Given the description of an element on the screen output the (x, y) to click on. 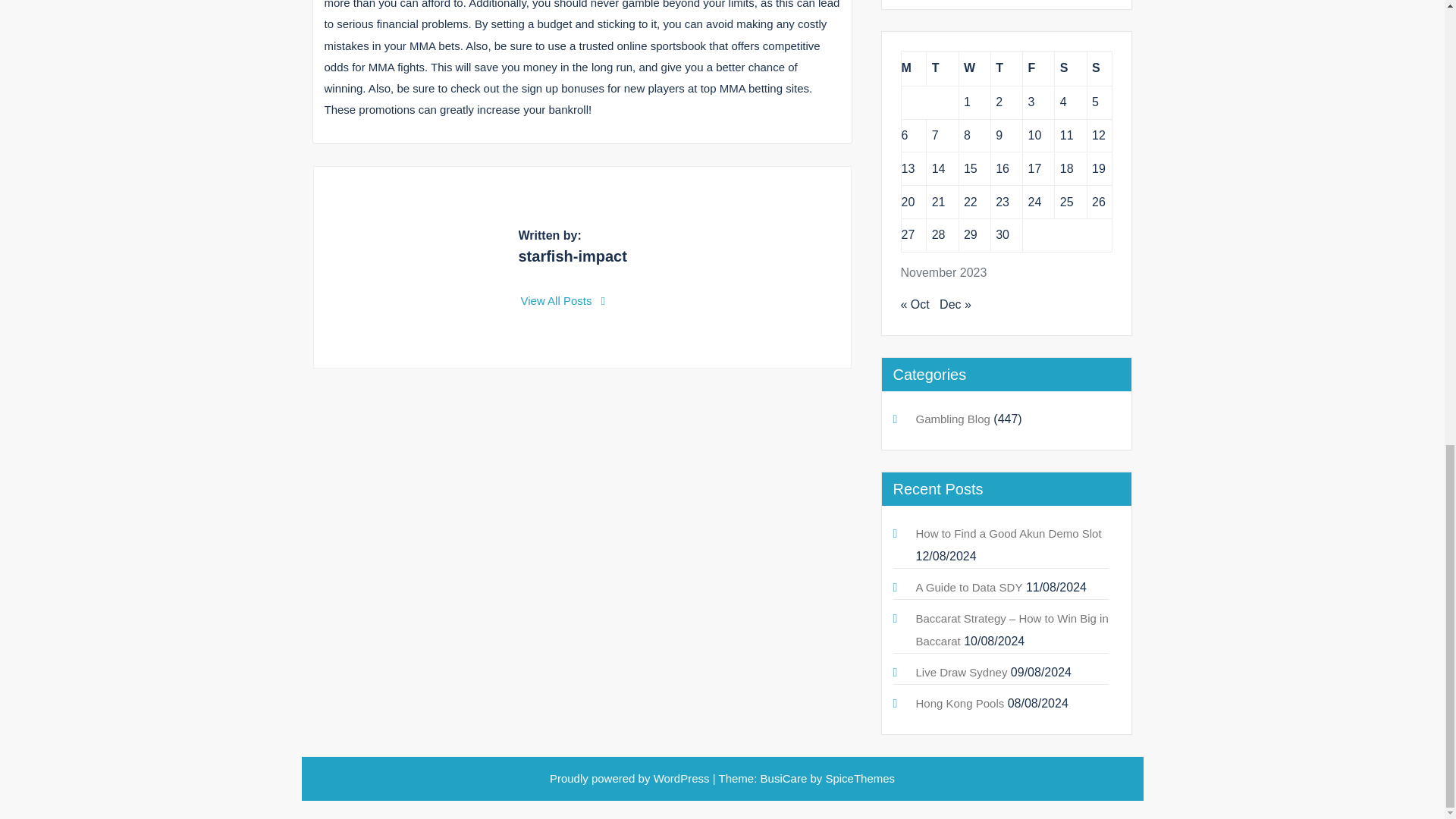
Wednesday (974, 68)
15 (969, 168)
View All Posts (562, 300)
Friday (1038, 68)
11 (1066, 134)
14 (937, 168)
12 (1098, 134)
13 (907, 168)
Thursday (1006, 68)
Tuesday (942, 68)
